Given the description of an element on the screen output the (x, y) to click on. 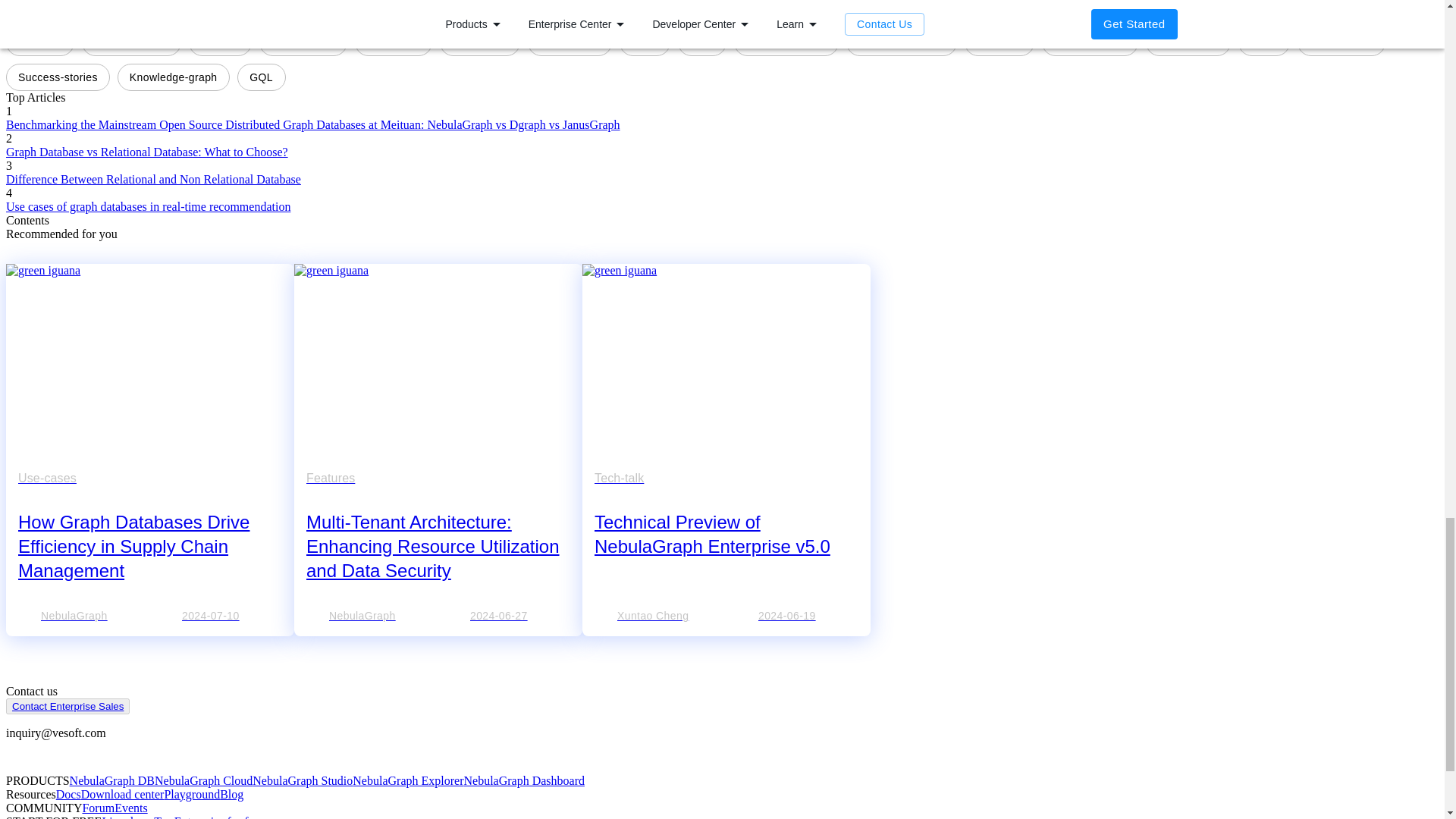
Use-cases (393, 41)
Query-language (785, 41)
Dev-log (220, 41)
Graph Database vs Relational Database: What to Choose? (146, 151)
Difference Between Relational and Non Relational Database (153, 178)
Success-stories (57, 77)
Tech-talk (40, 3)
Source-code (1341, 41)
News (1264, 41)
Architecture (1187, 41)
System-testing (130, 41)
Graph-computing (900, 41)
Performance (303, 41)
Features (39, 41)
NebulaGraph (79, 615)
